Given the description of an element on the screen output the (x, y) to click on. 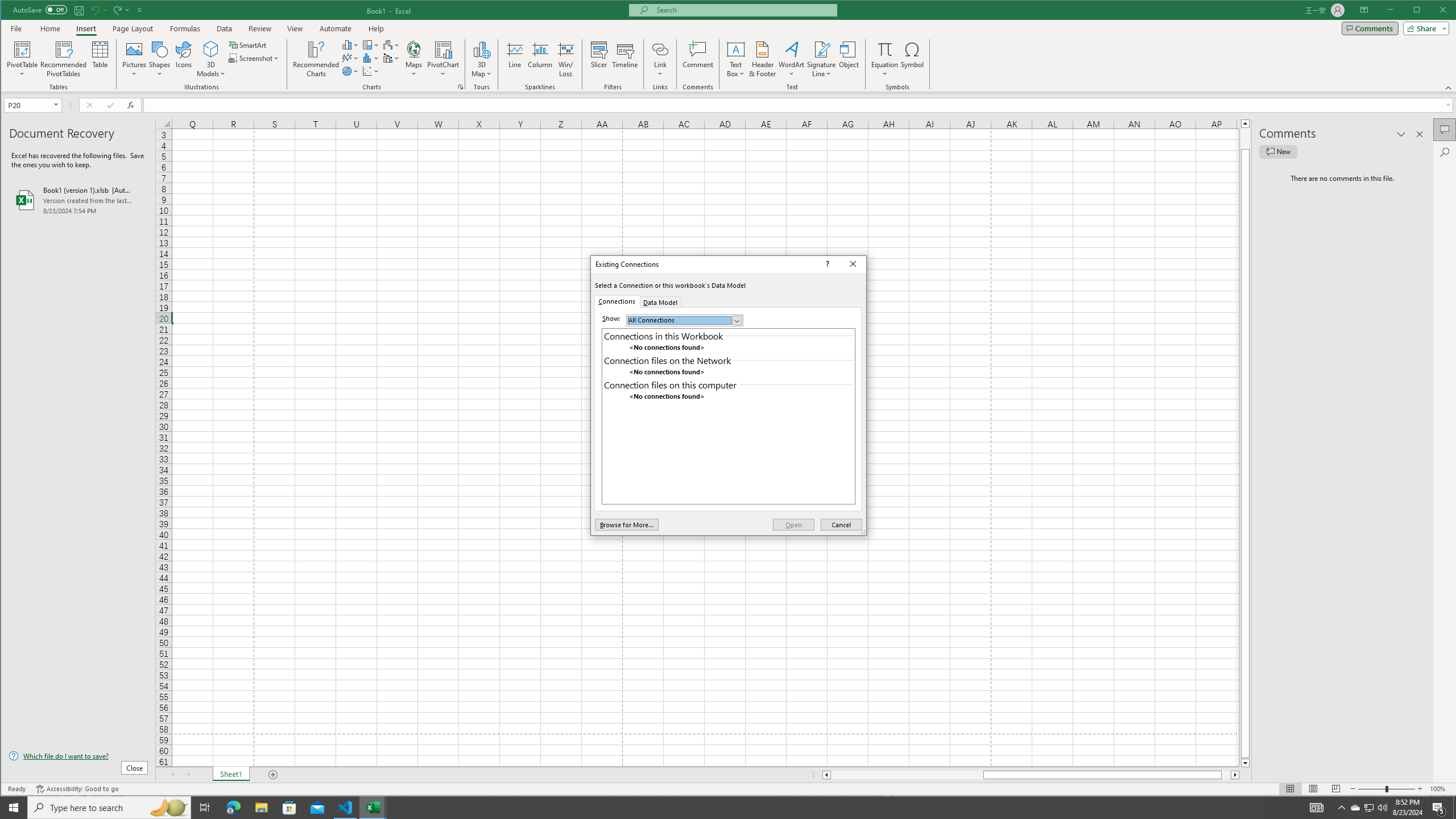
Insert Combo Chart (391, 57)
Line (514, 59)
